Given the description of an element on the screen output the (x, y) to click on. 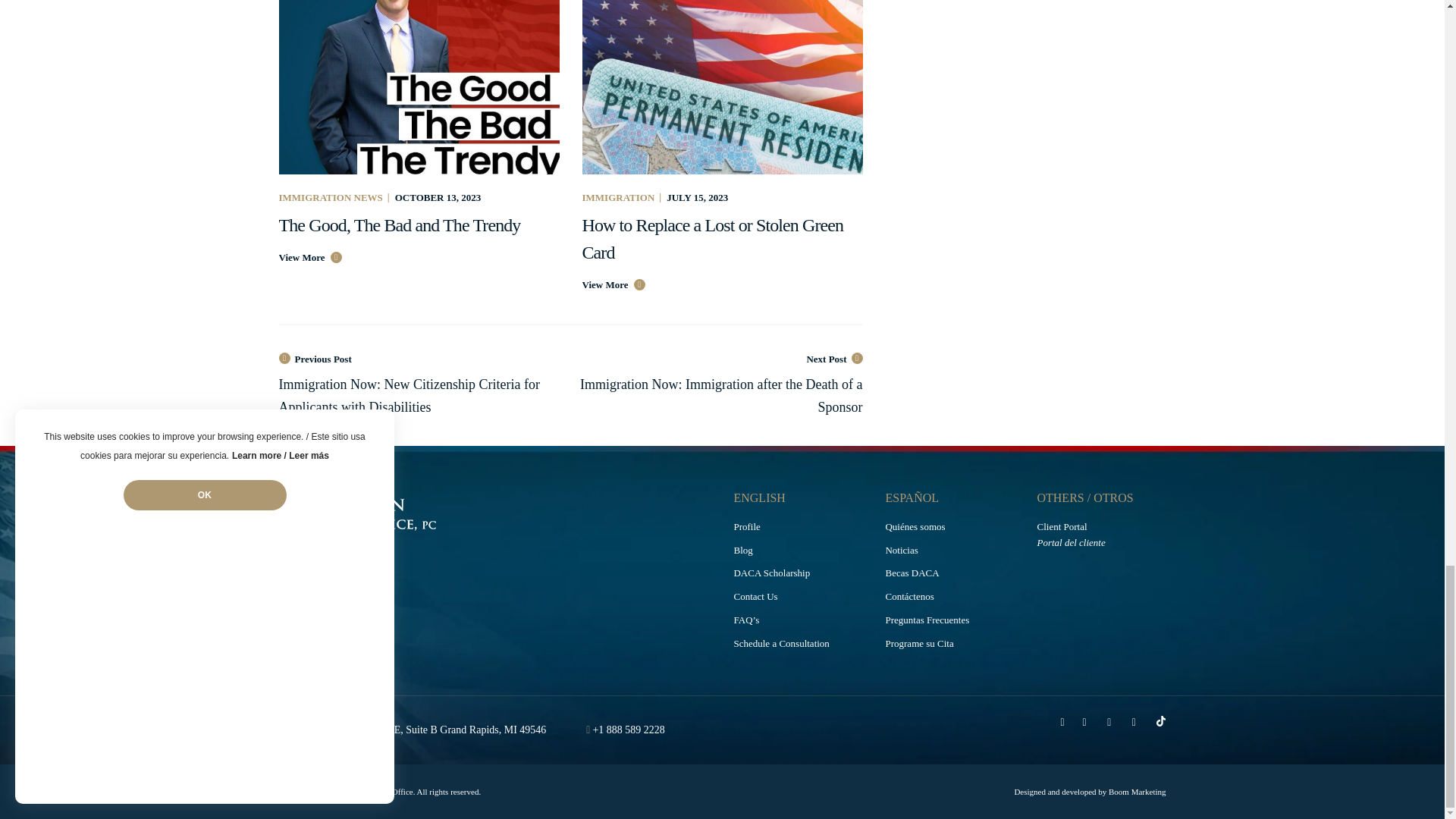
logo-foot (408, 512)
